Given the description of an element on the screen output the (x, y) to click on. 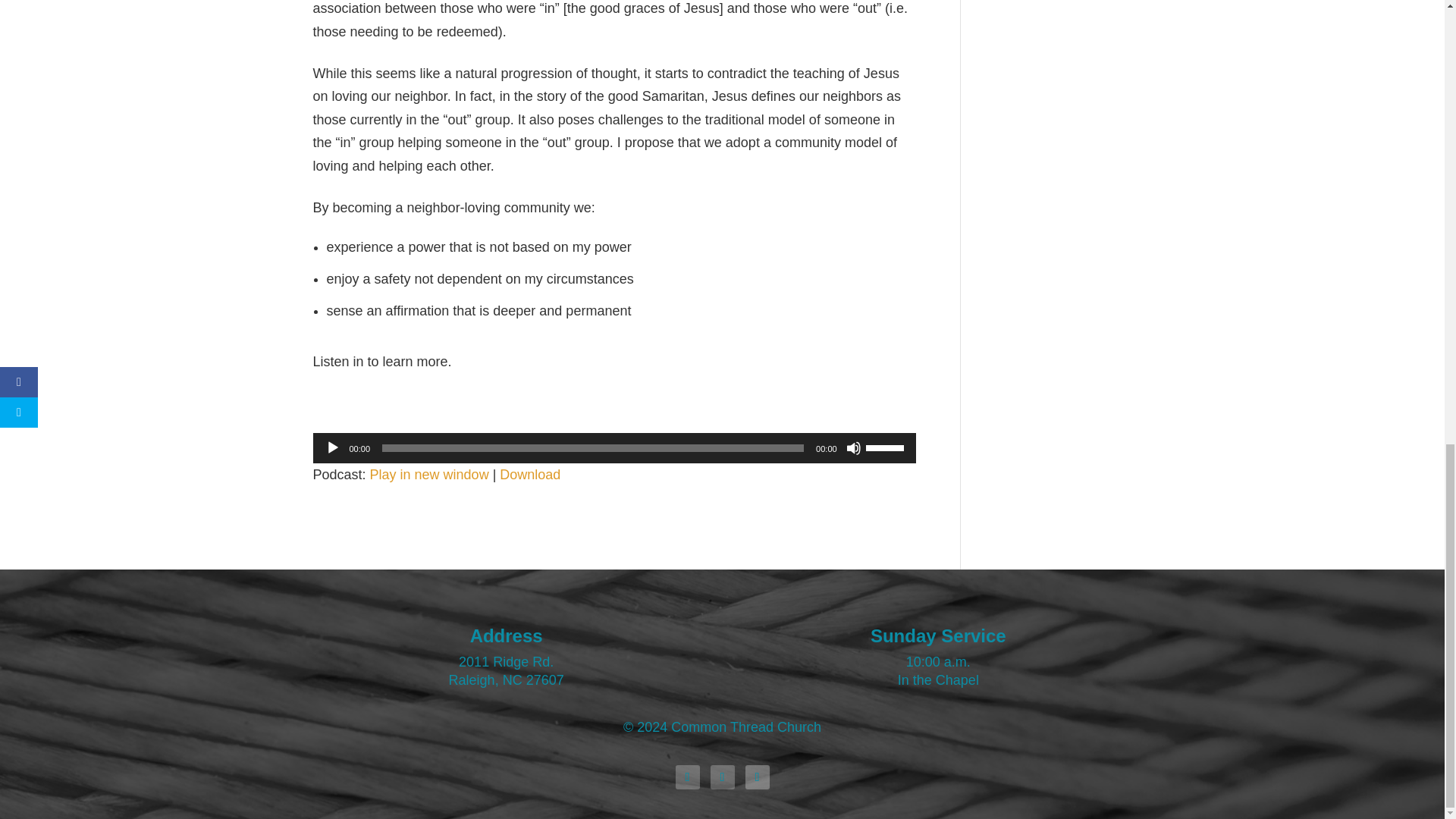
Play in new window (429, 474)
Download (529, 474)
Play (331, 447)
Mute (853, 447)
